Given the description of an element on the screen output the (x, y) to click on. 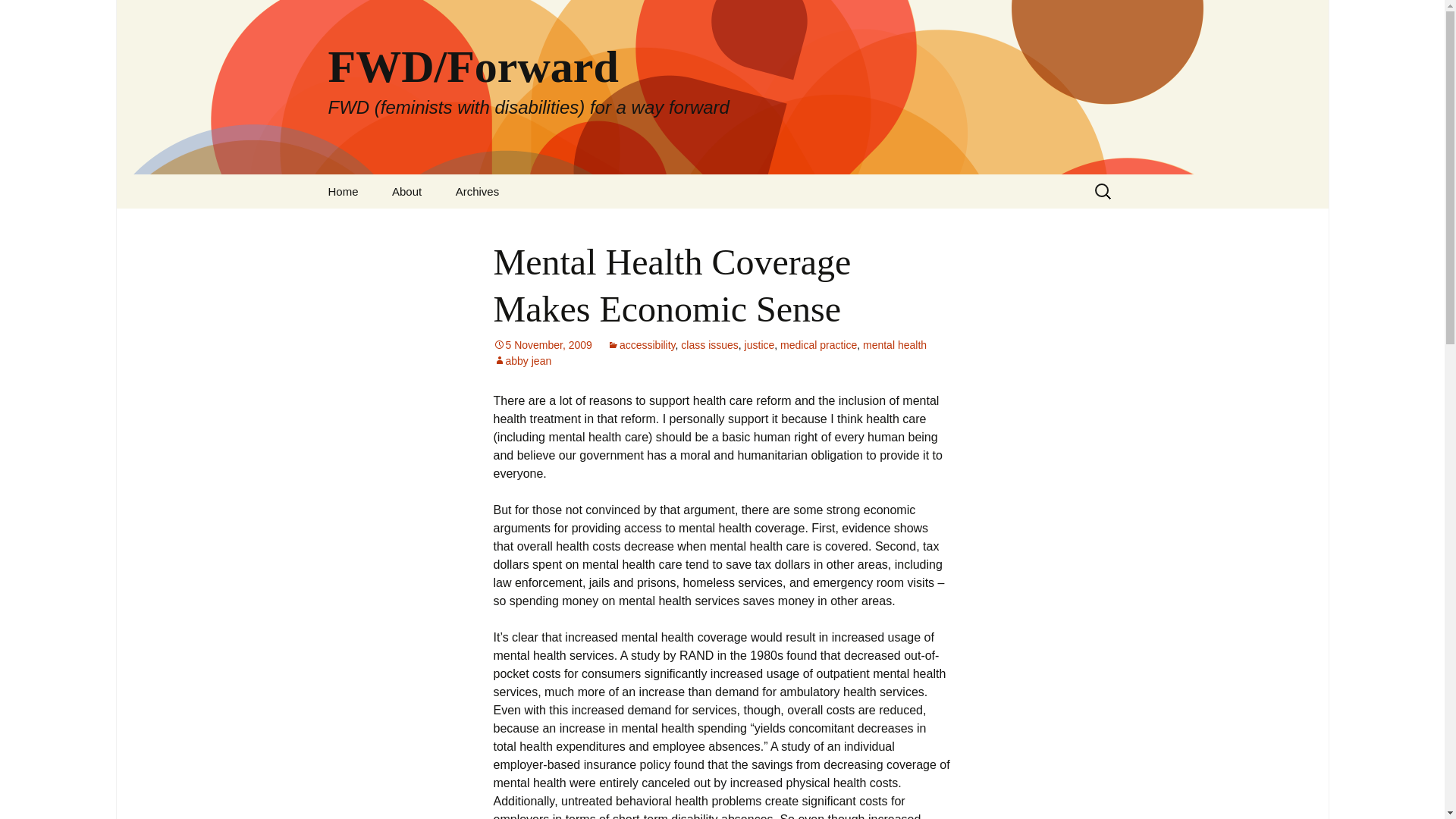
class issues (709, 345)
mental health (894, 345)
Permalink to Mental Health Coverage Makes Economic Sense (542, 345)
About (406, 191)
Home (342, 191)
5 November, 2009 (542, 345)
Archives (478, 191)
justice (759, 345)
Search (34, 15)
Search (18, 15)
abby jean (522, 360)
medical practice (818, 345)
accessibility (641, 345)
